Given the description of an element on the screen output the (x, y) to click on. 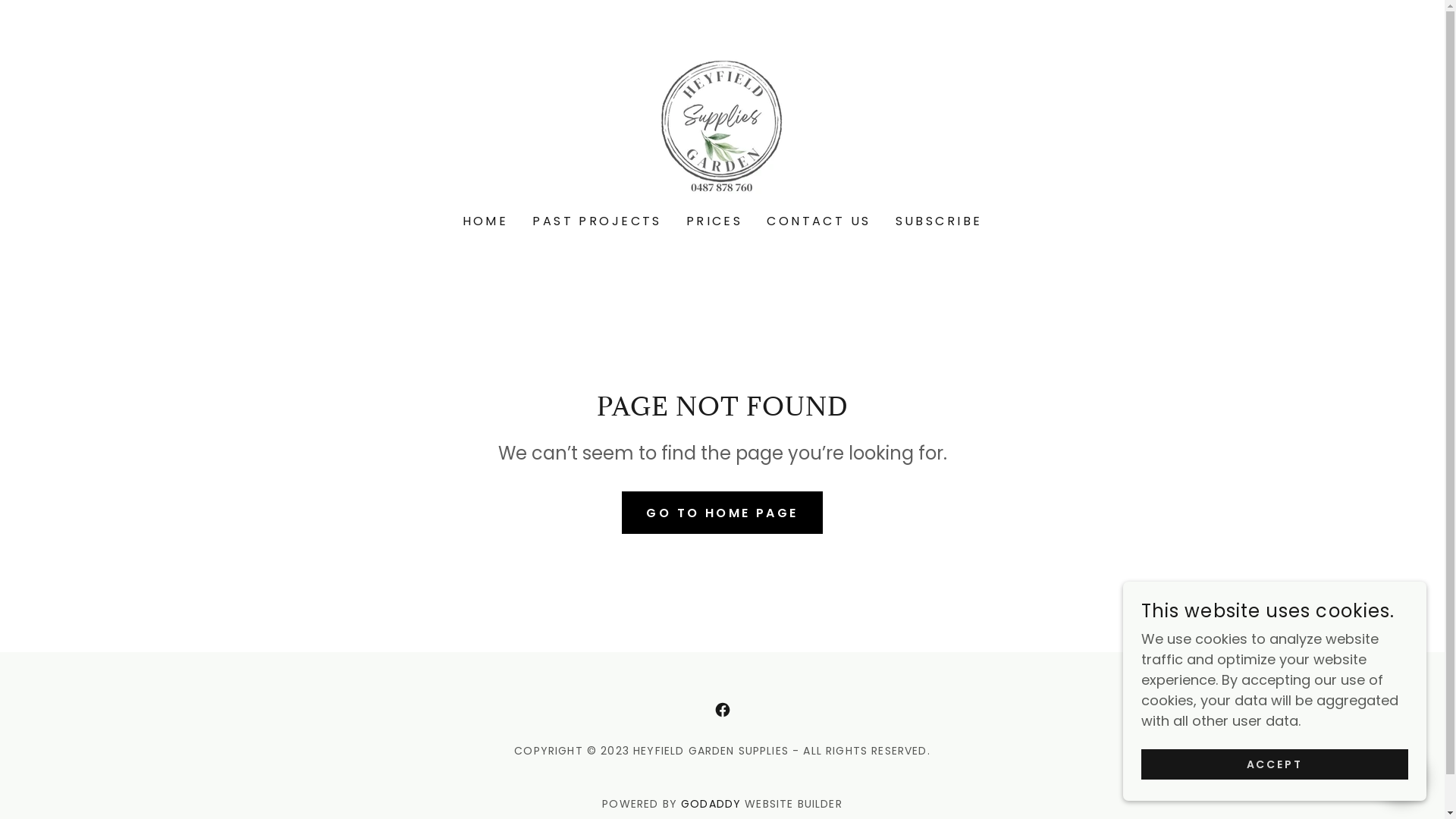
CONTACT US Element type: text (818, 221)
GO TO HOME PAGE Element type: text (721, 512)
ACCEPT Element type: text (1274, 764)
Heyfield Garden Supplies Element type: hover (721, 116)
PAST PROJECTS Element type: text (596, 221)
GODADDY Element type: text (710, 803)
SUBSCRIBE Element type: text (939, 221)
HOME Element type: text (485, 221)
PRICES Element type: text (714, 221)
